Given the description of an element on the screen output the (x, y) to click on. 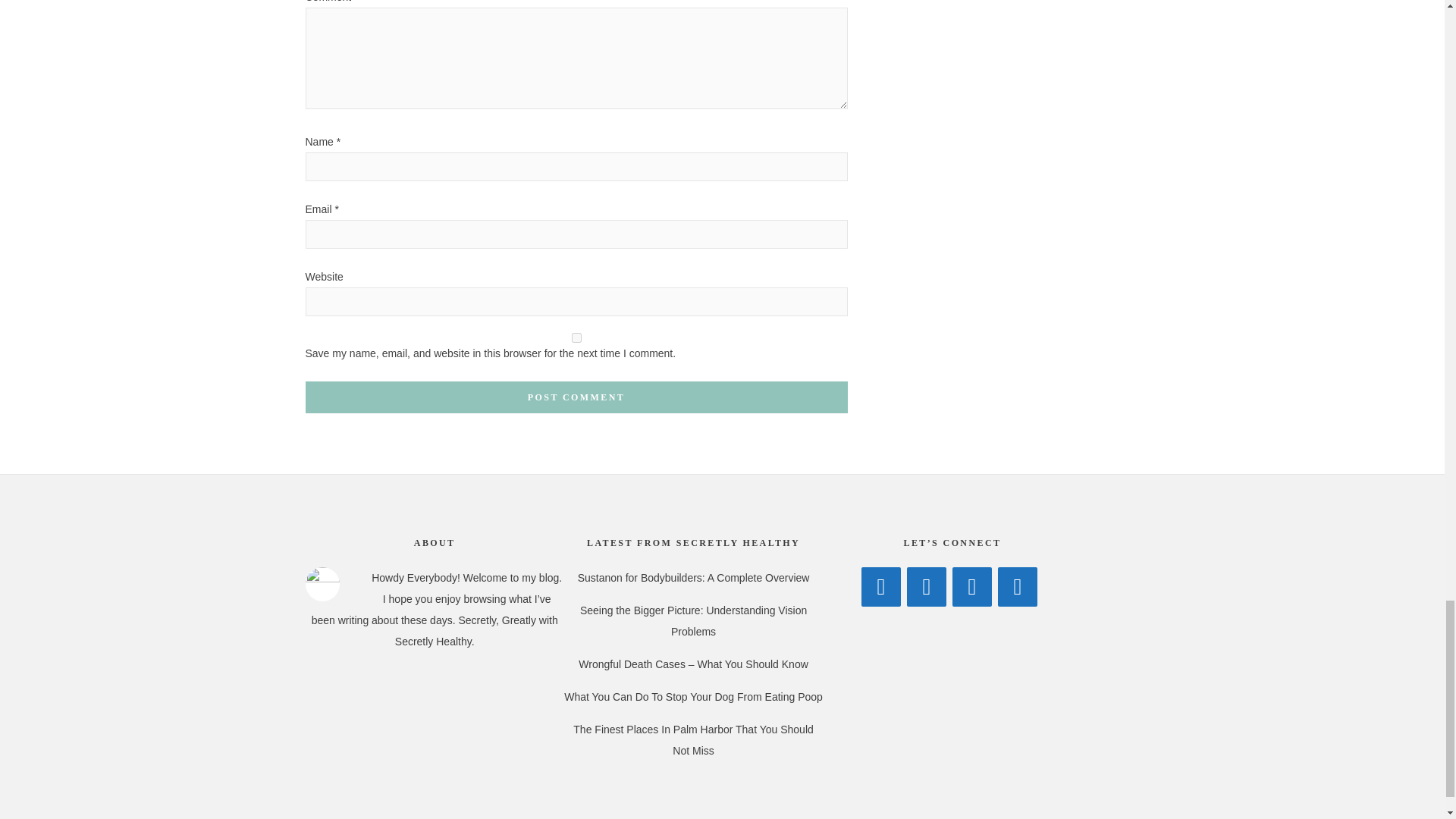
Facebook (881, 586)
Post Comment (575, 397)
Twitter (926, 586)
yes (575, 337)
Post Comment (575, 397)
Seeing the Bigger Picture: Understanding Vision Problems (692, 621)
Sustanon for Bodybuilders: A Complete Overview (693, 577)
